Given the description of an element on the screen output the (x, y) to click on. 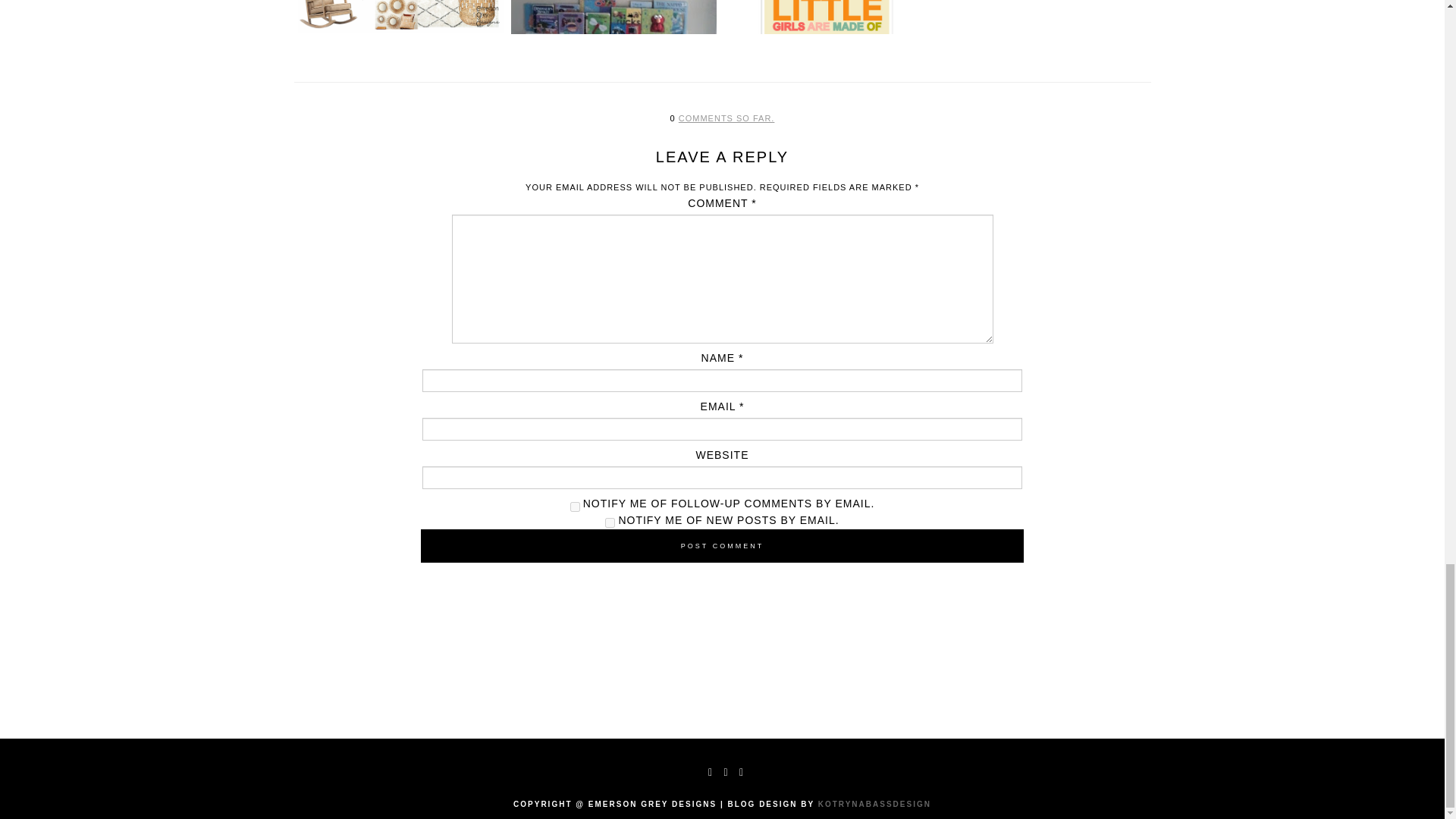
COMMENTS SO FAR. (726, 117)
subscribe (609, 522)
subscribe (574, 506)
Post Comment (722, 545)
KOTRYNABASSDESIGN (874, 804)
Post Comment (722, 545)
